Given the description of an element on the screen output the (x, y) to click on. 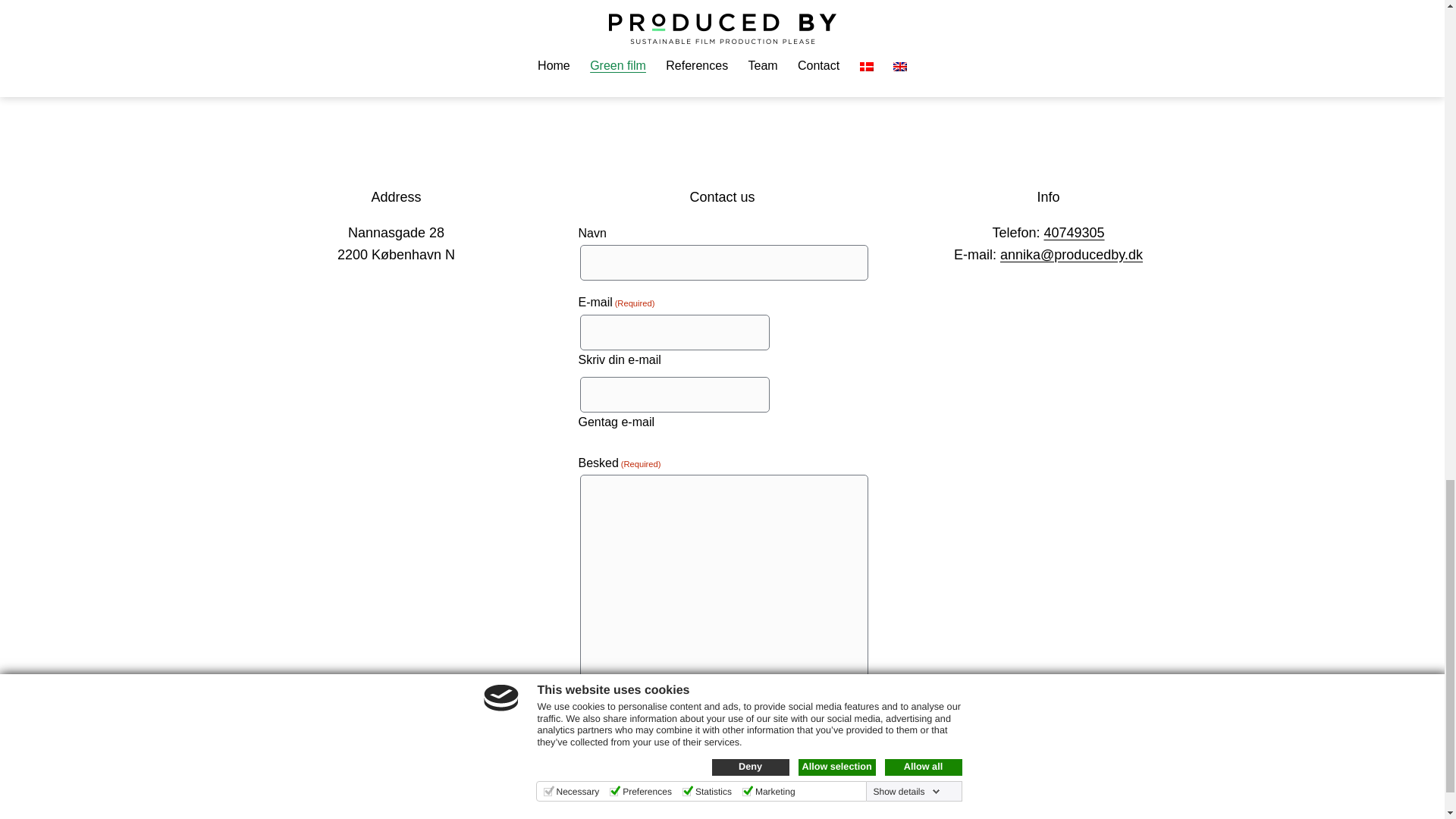
Send (619, 752)
